Given the description of an element on the screen output the (x, y) to click on. 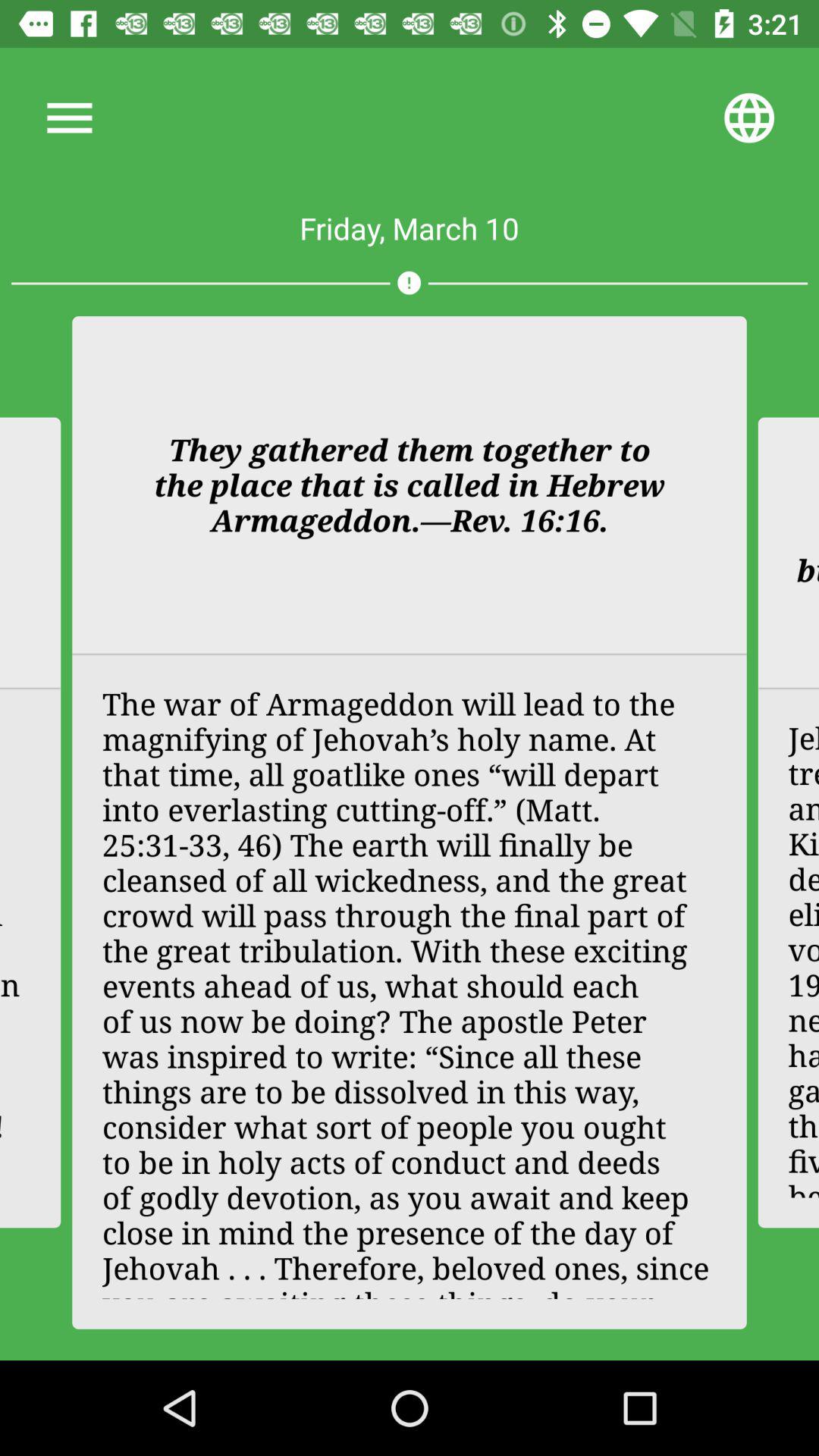
launch icon above they gathered them item (409, 282)
